Given the description of an element on the screen output the (x, y) to click on. 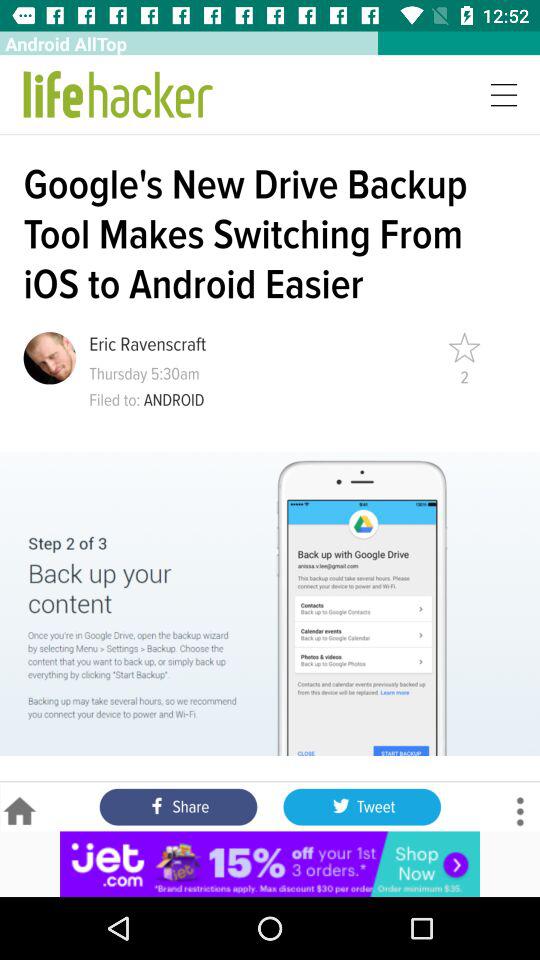
see more options (520, 811)
